Given the description of an element on the screen output the (x, y) to click on. 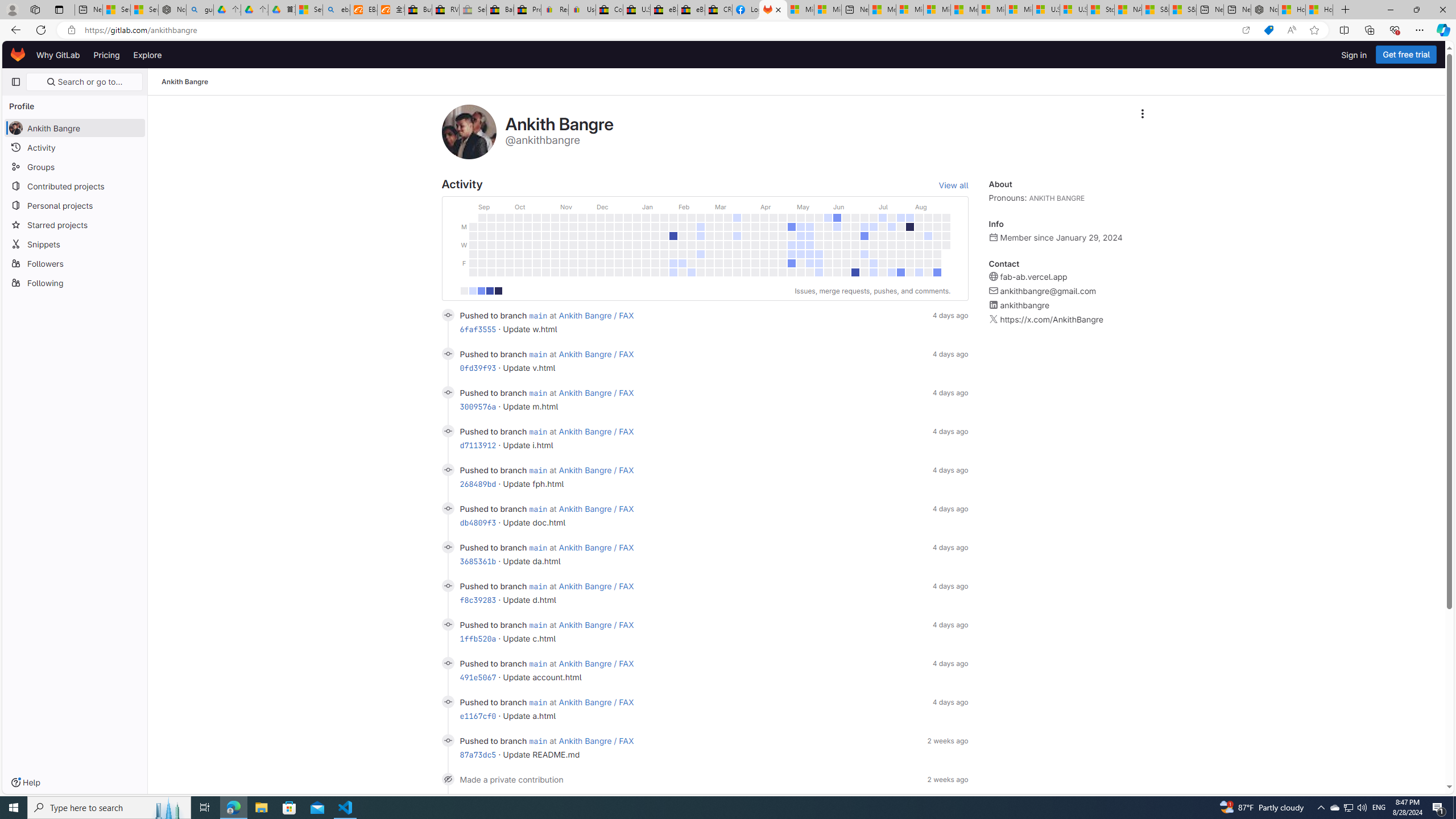
Sign in (1353, 54)
Ankith Bangre (184, 81)
ankithbangre@gmail.com (1048, 291)
